Given the description of an element on the screen output the (x, y) to click on. 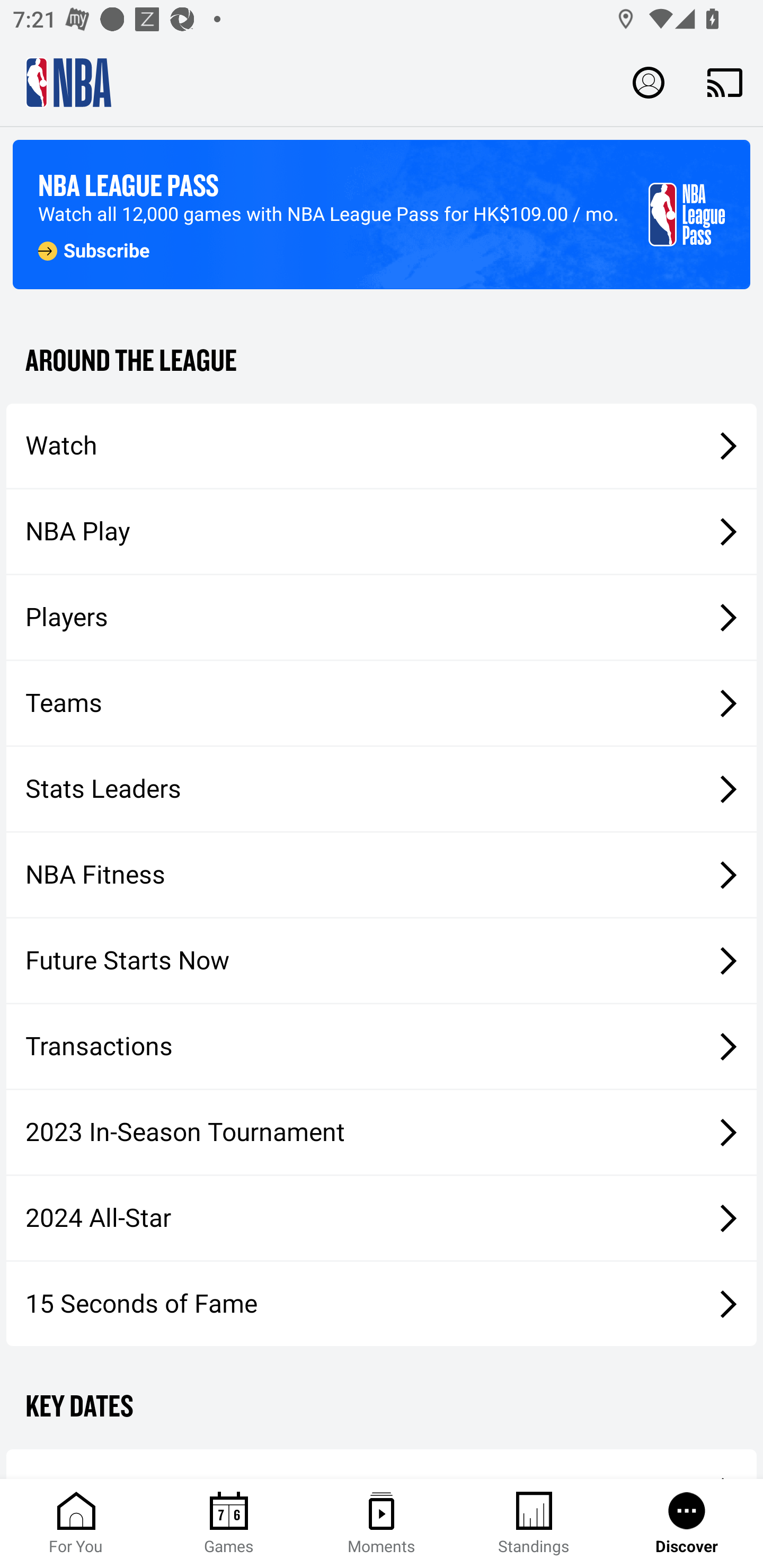
Cast. Disconnected (724, 82)
Profile (648, 81)
Watch (381, 444)
NBA Play (381, 531)
Players (381, 617)
Teams (381, 702)
Stats Leaders (381, 788)
NBA Fitness (381, 874)
Future Starts Now (381, 960)
Transactions (381, 1046)
2023 In-Season Tournament (381, 1131)
2024 All-Star (381, 1218)
15 Seconds of Fame (381, 1303)
For You (76, 1523)
Games (228, 1523)
Moments (381, 1523)
Standings (533, 1523)
